Given the description of an element on the screen output the (x, y) to click on. 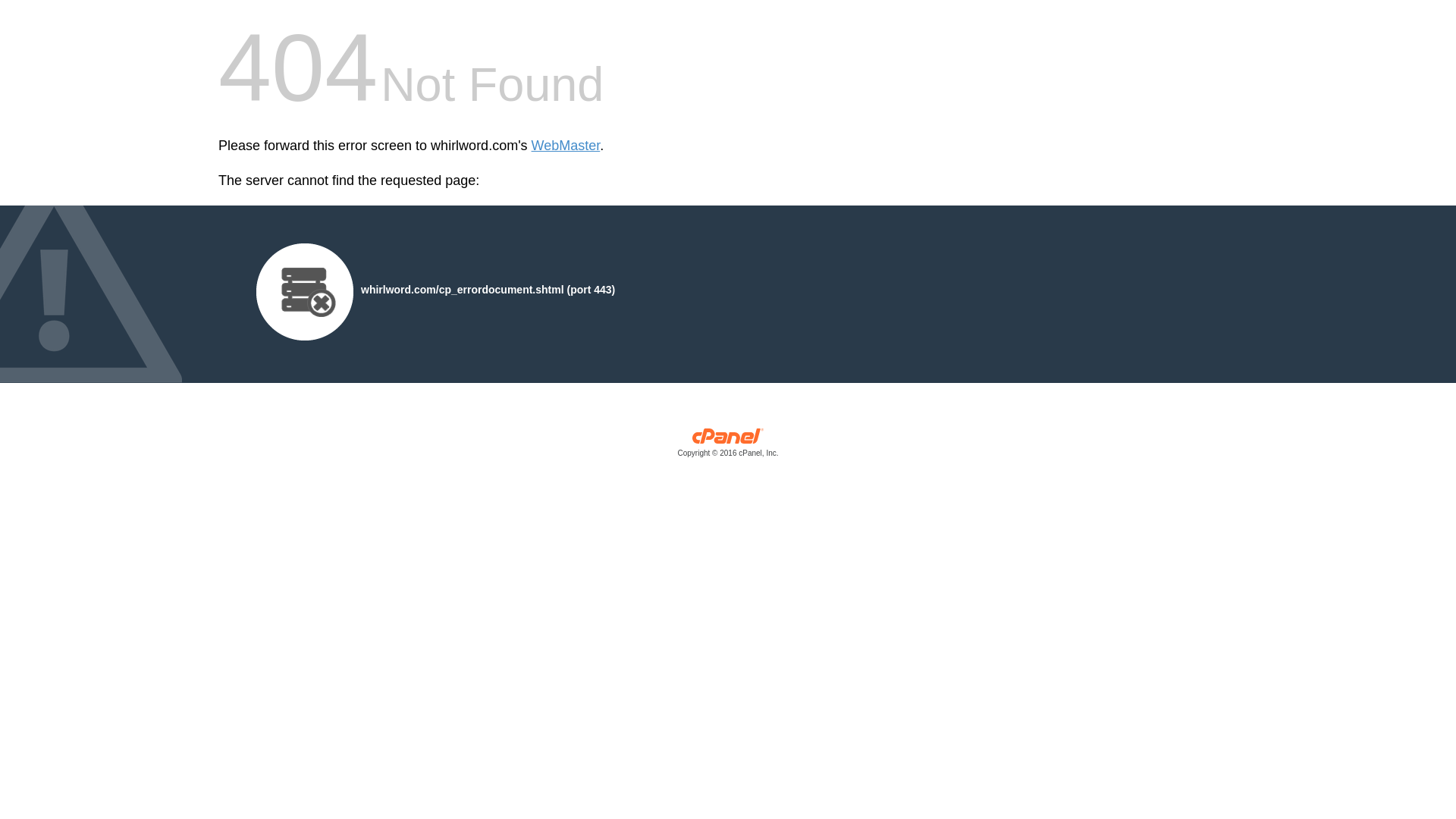
cPanel, Inc. (727, 446)
WebMaster (565, 145)
